Given the description of an element on the screen output the (x, y) to click on. 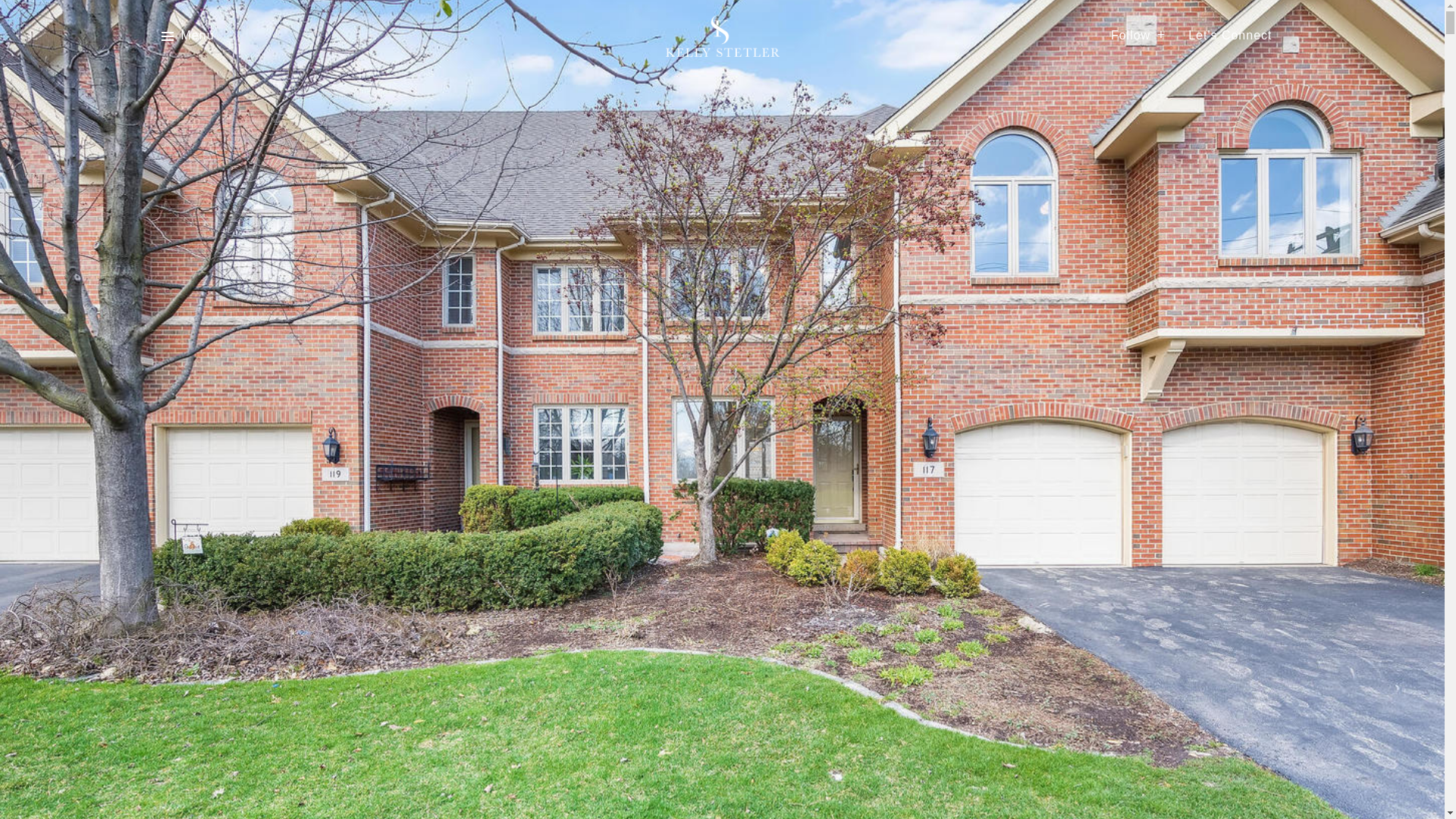
Follow (1138, 35)
Menu (187, 35)
Menu (197, 35)
Let'S Connect (1229, 35)
